Given the description of an element on the screen output the (x, y) to click on. 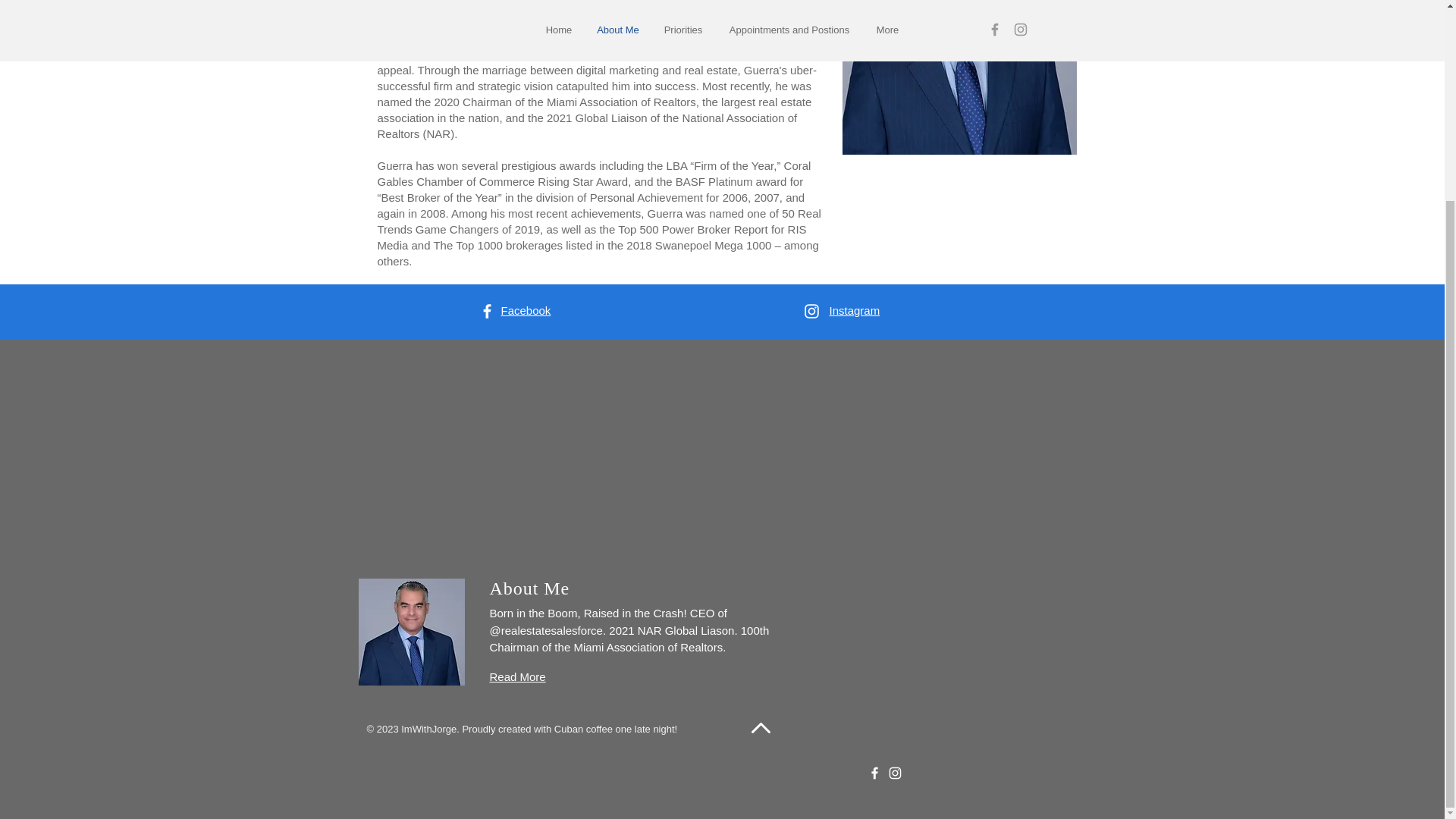
Read More (517, 676)
Instagram (854, 309)
Facebook (525, 309)
